Given the description of an element on the screen output the (x, y) to click on. 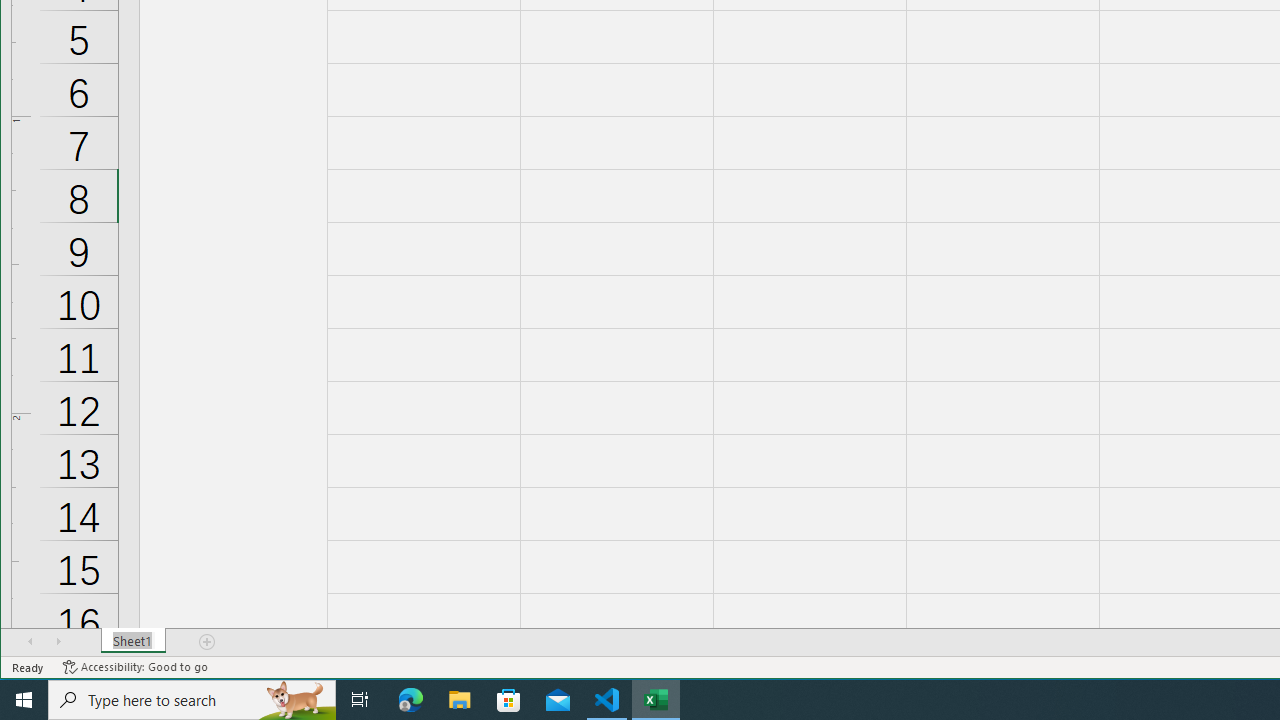
Start (24, 699)
File Explorer (460, 699)
Search highlights icon opens search home window (295, 699)
Type here to search (191, 699)
Microsoft Store (509, 699)
Excel - 1 running window (656, 699)
Visual Studio Code - 1 running window (607, 699)
Task View (359, 699)
Microsoft Edge (411, 699)
